Given the description of an element on the screen output the (x, y) to click on. 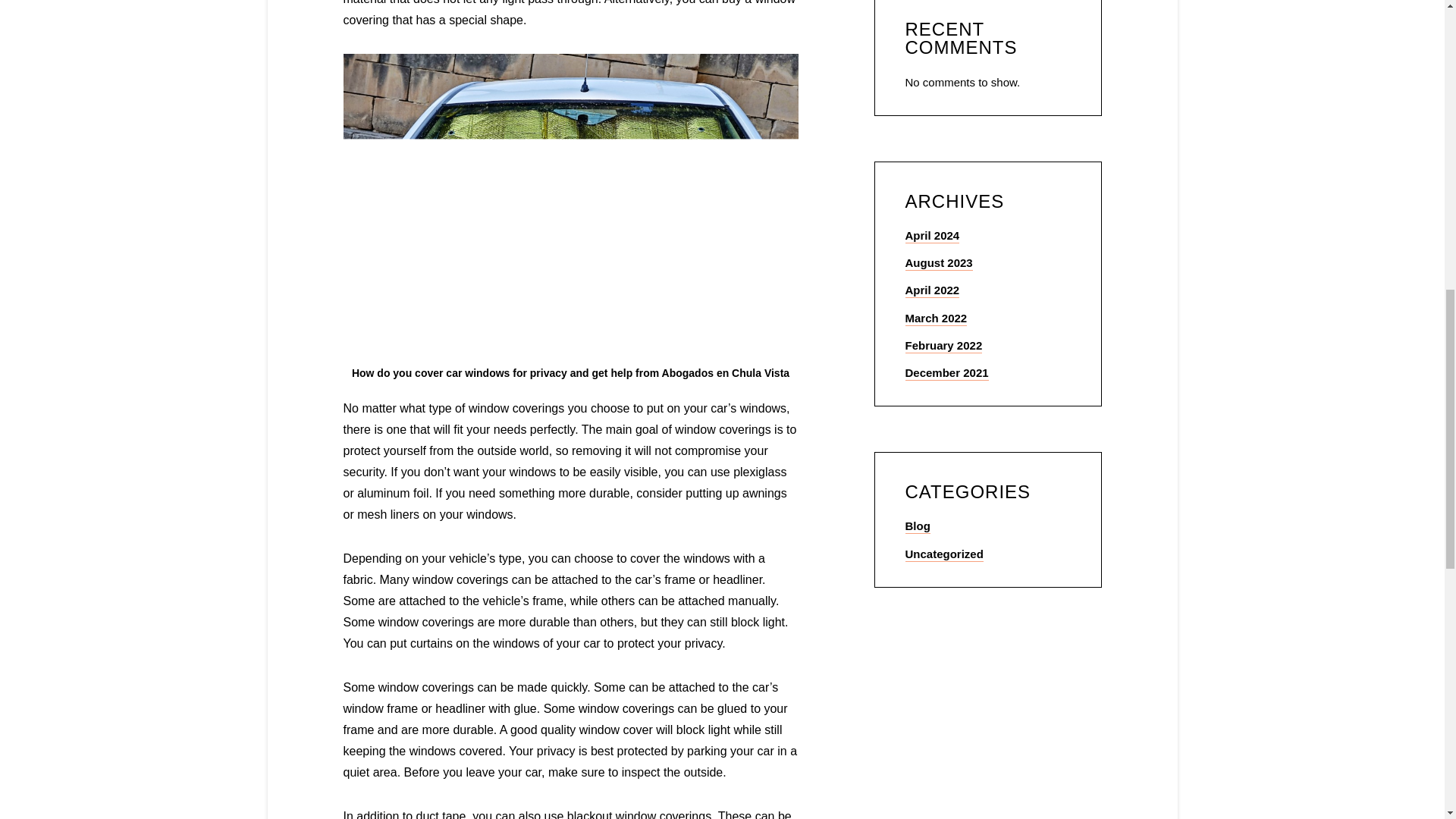
Blog (917, 526)
April 2024 (932, 236)
March 2022 (936, 318)
February 2022 (943, 345)
April 2022 (932, 290)
August 2023 (938, 263)
Uncategorized (944, 554)
December 2021 (946, 373)
